Given the description of an element on the screen output the (x, y) to click on. 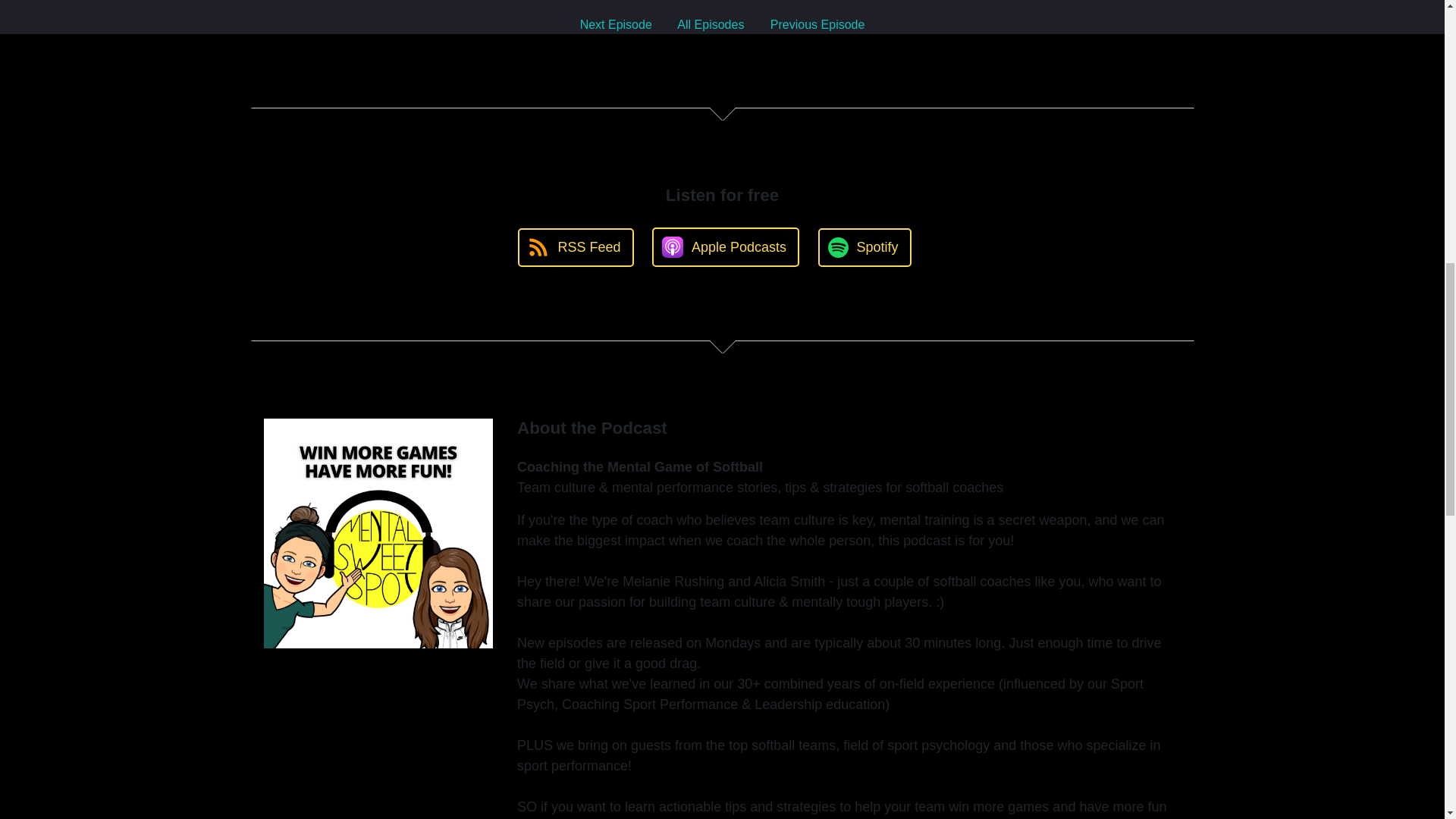
All Episodes (710, 24)
Next Episode (615, 24)
Apple Podcasts (725, 246)
Spotify (863, 247)
Previous Episode (817, 24)
RSS Feed (575, 247)
